Given the description of an element on the screen output the (x, y) to click on. 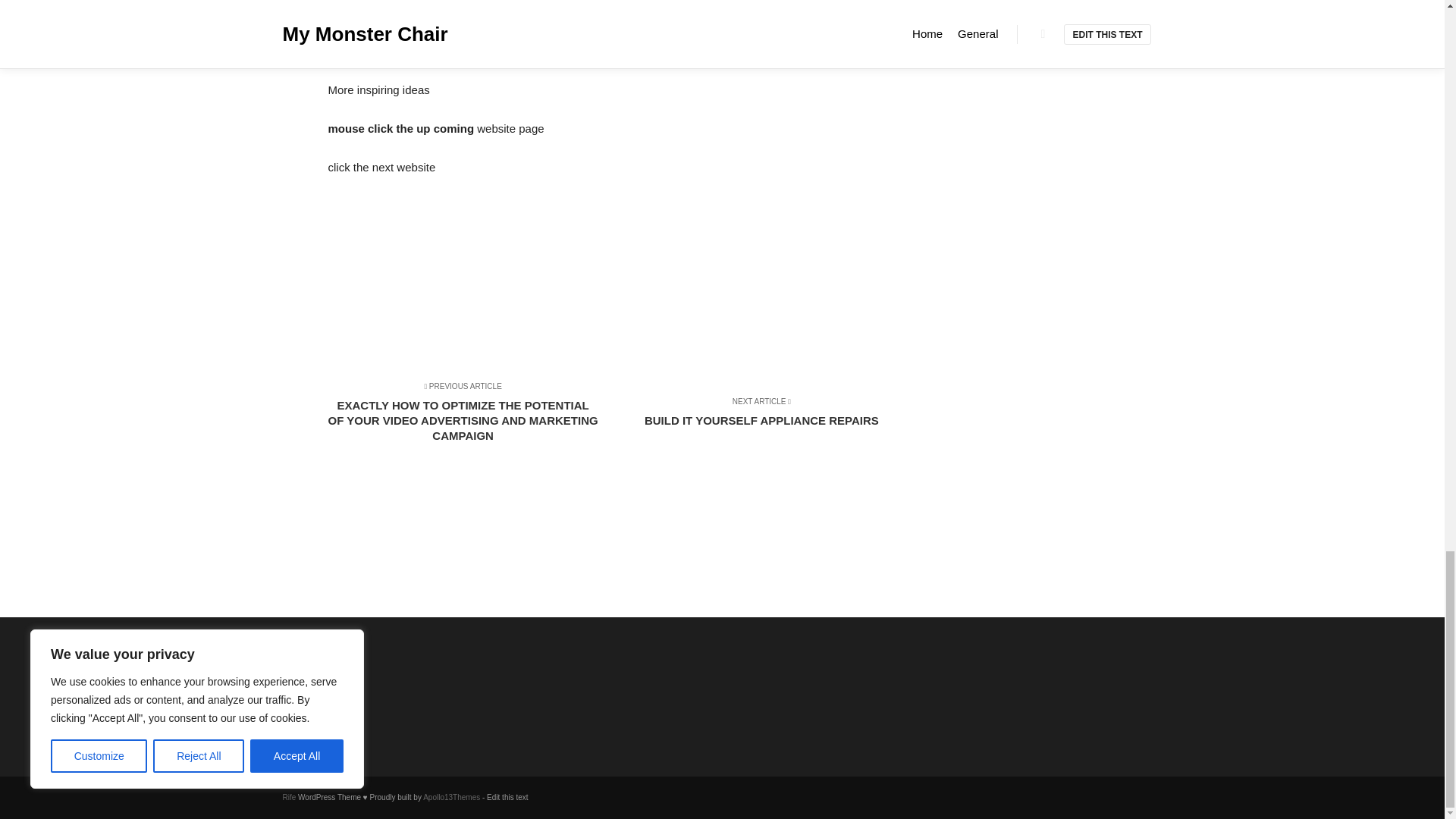
click the next website (381, 166)
More inspiring ideas (378, 89)
mouse click the up coming website page (435, 128)
